Given the description of an element on the screen output the (x, y) to click on. 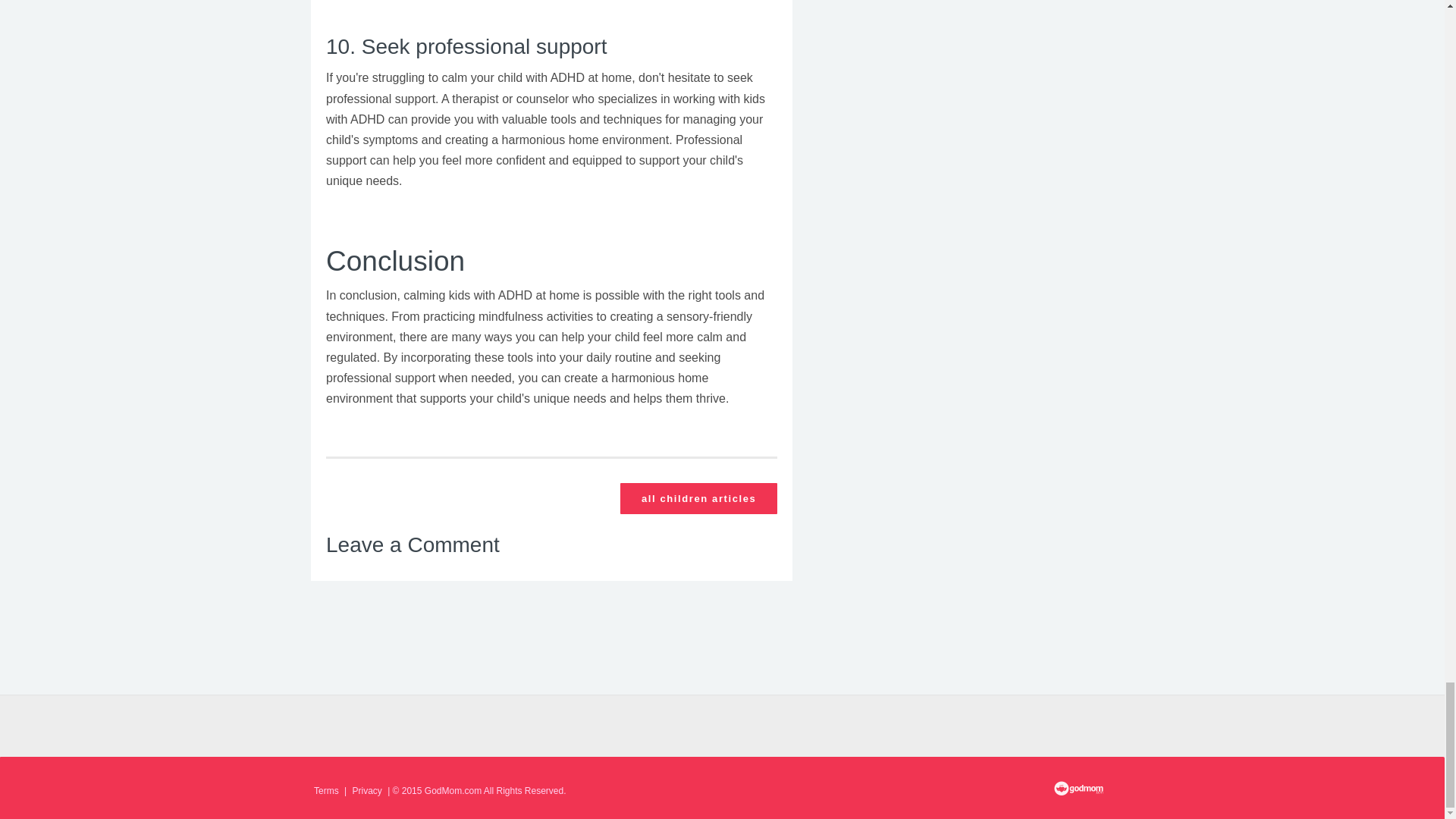
all children articles (698, 498)
